Given the description of an element on the screen output the (x, y) to click on. 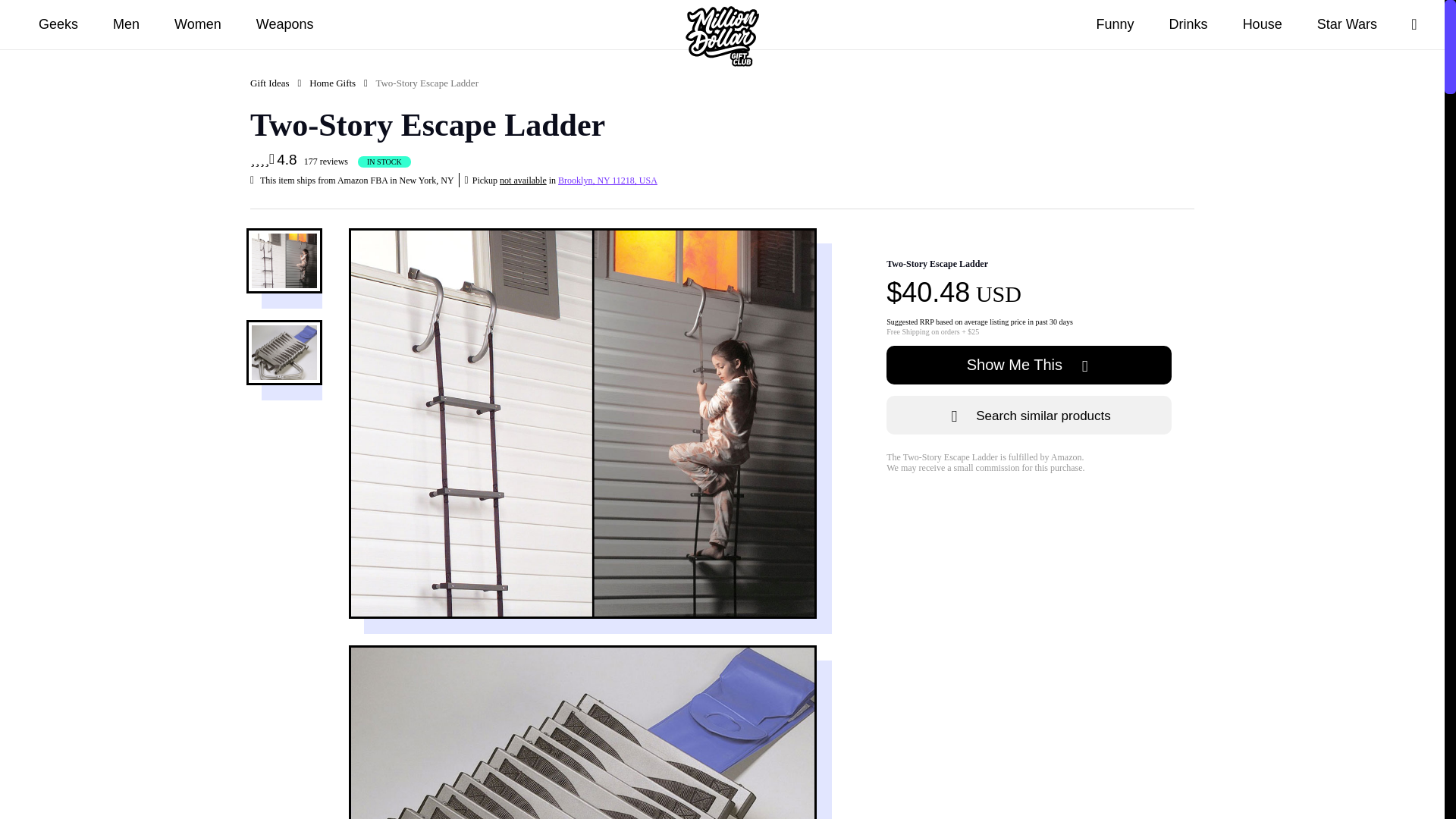
Star Wars (1347, 24)
Weapons (284, 24)
Brooklyn, NY 11218, USA (607, 180)
Drinks (1188, 24)
search (1414, 24)
Gift Ideas (269, 82)
Geeks (57, 24)
House (1262, 24)
Men (126, 24)
Women (197, 24)
